Given the description of an element on the screen output the (x, y) to click on. 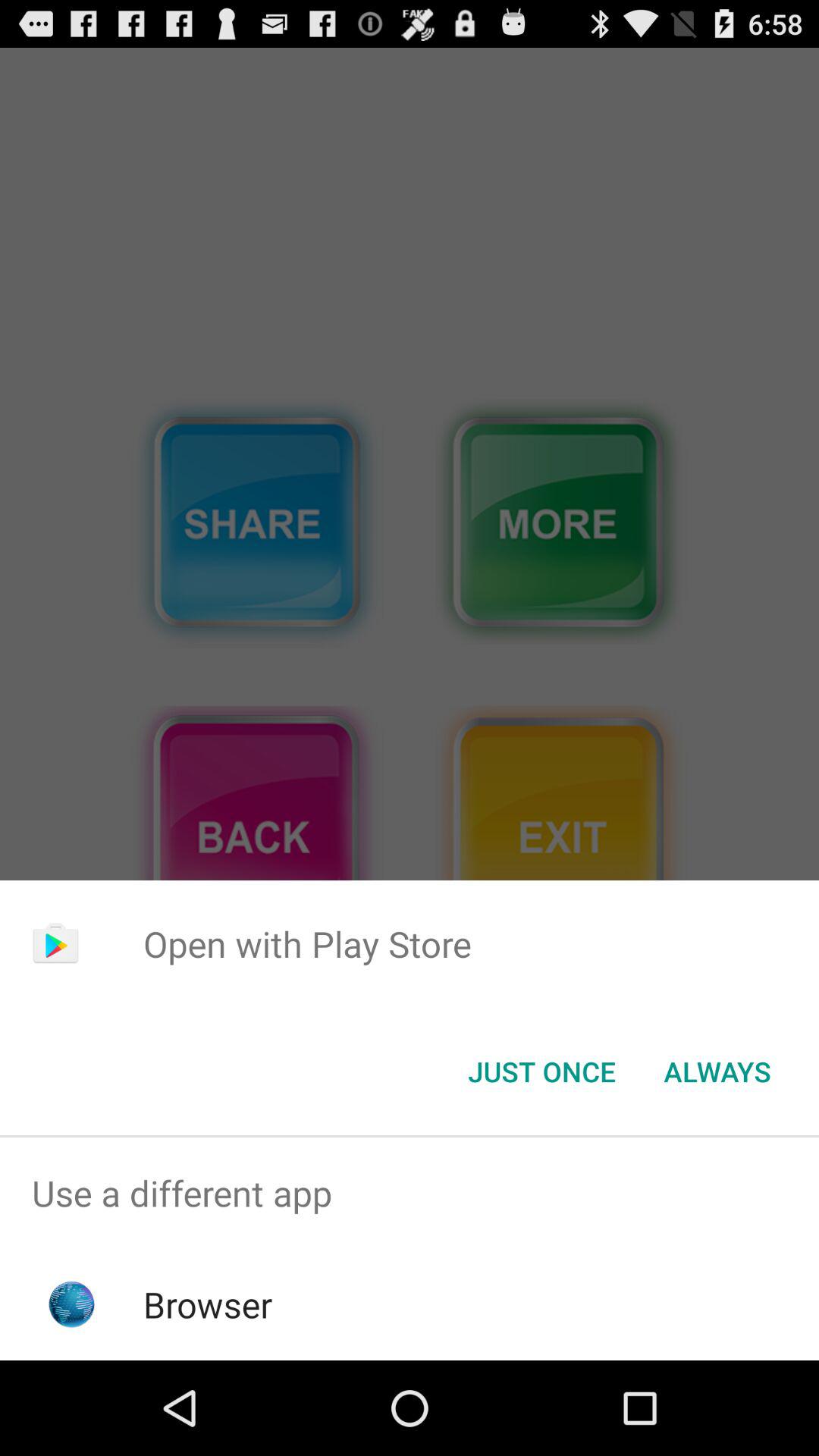
swipe until always item (717, 1071)
